Given the description of an element on the screen output the (x, y) to click on. 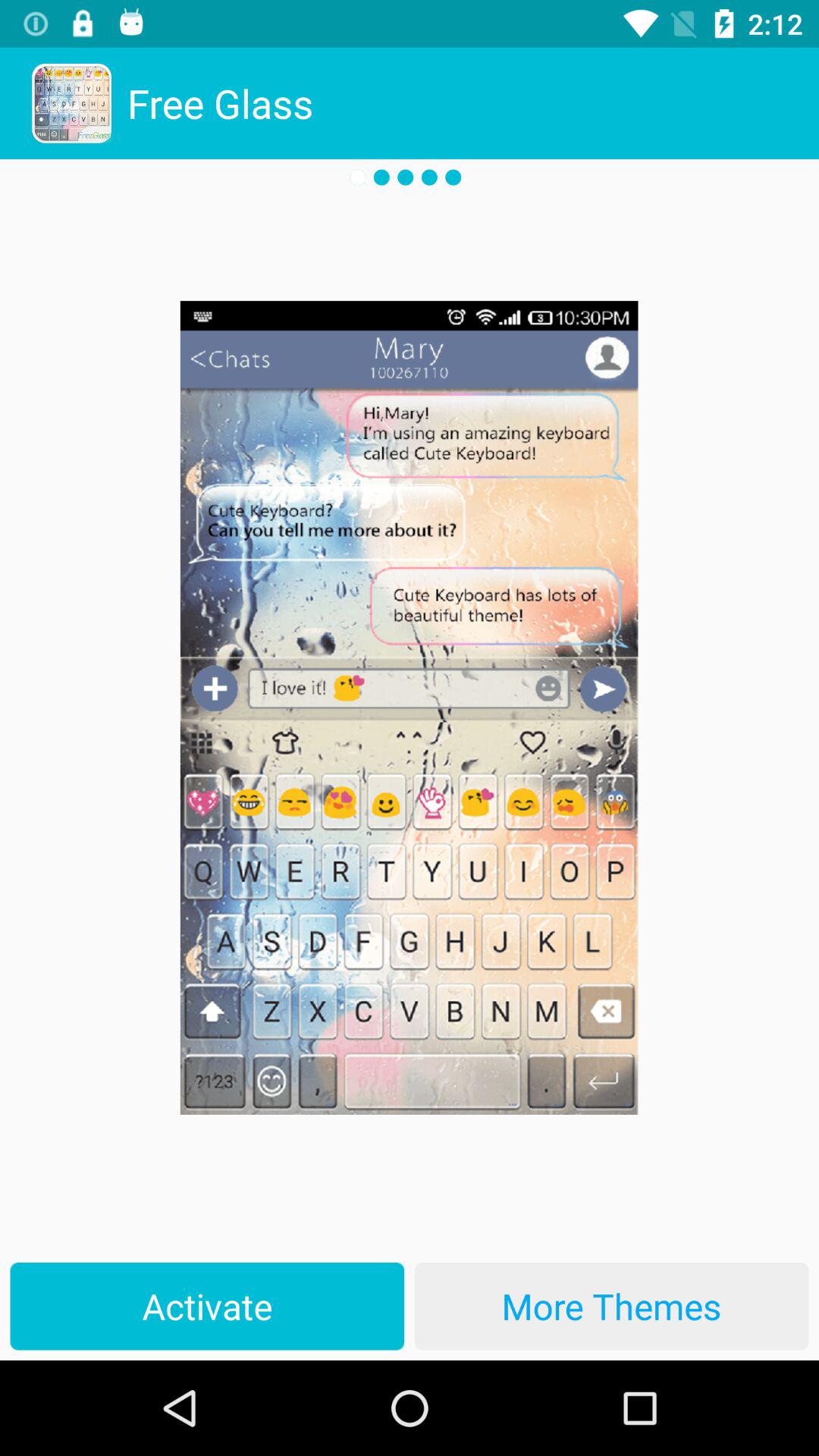
scroll until activate icon (207, 1306)
